Given the description of an element on the screen output the (x, y) to click on. 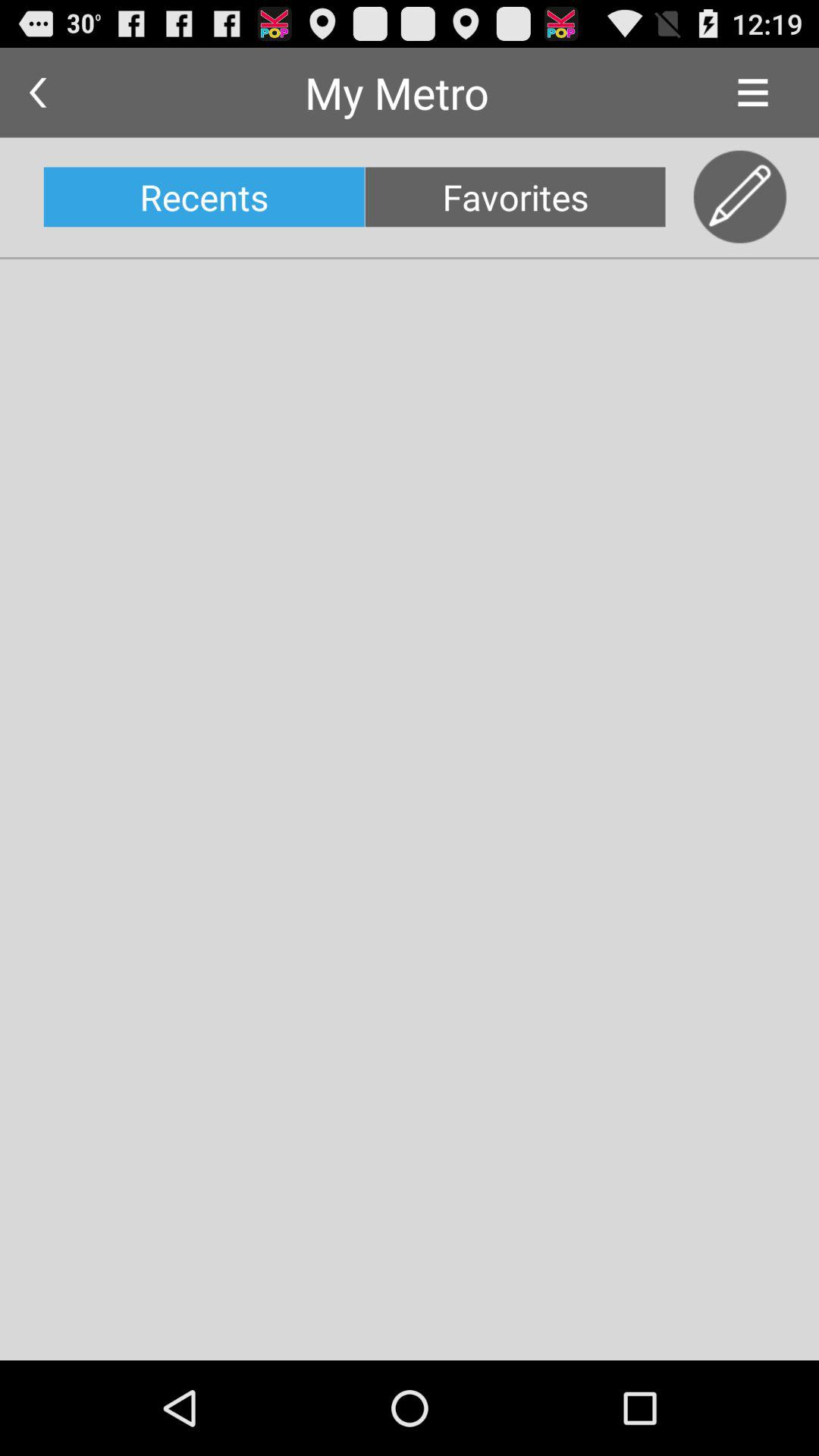
jump until the favorites icon (515, 196)
